Given the description of an element on the screen output the (x, y) to click on. 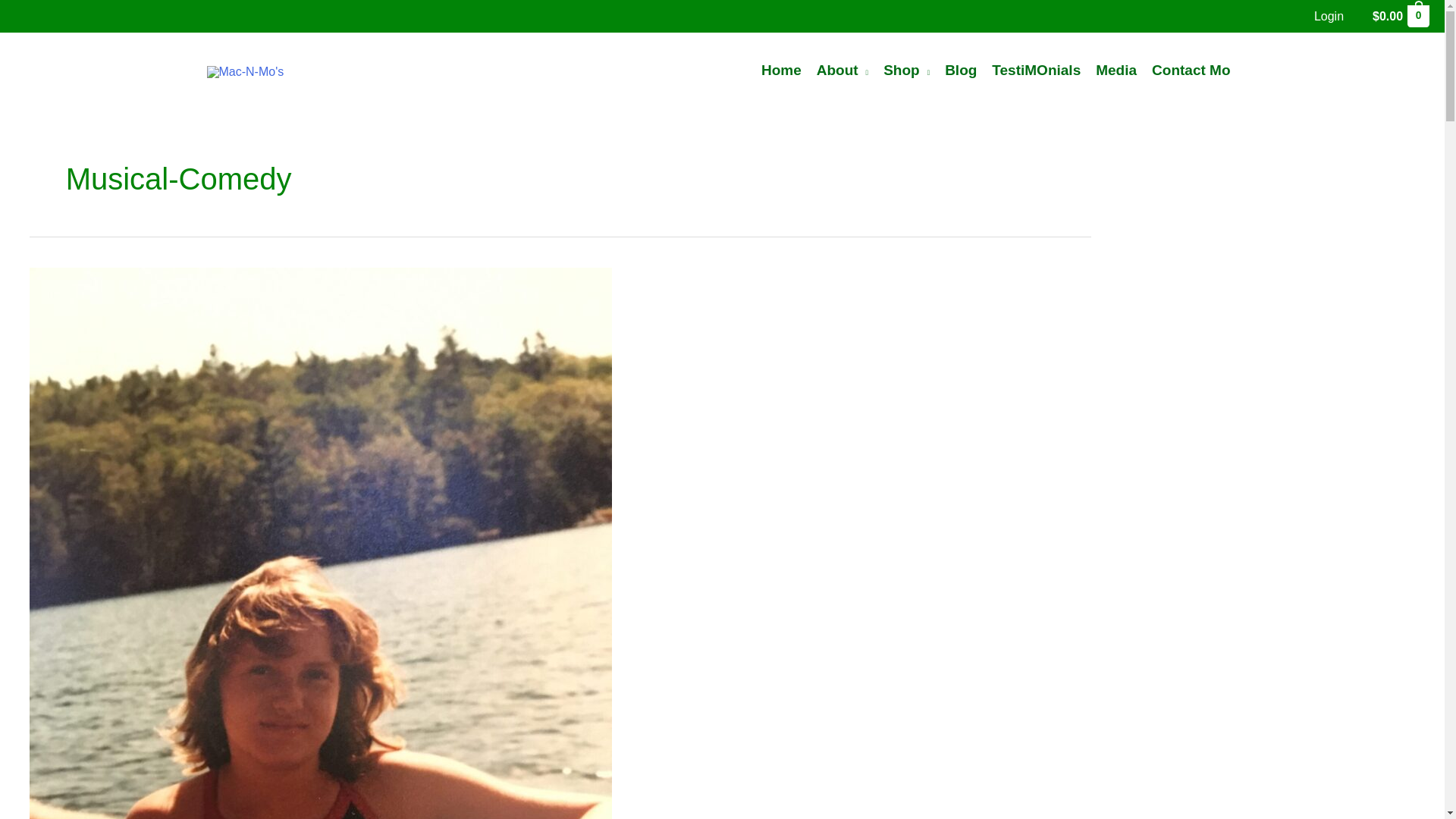
Login (1328, 15)
Home (781, 70)
Media (1115, 70)
Shop (906, 70)
About (842, 70)
TestiMOnials (1035, 70)
Blog (960, 70)
Contact Mo (1190, 70)
